Given the description of an element on the screen output the (x, y) to click on. 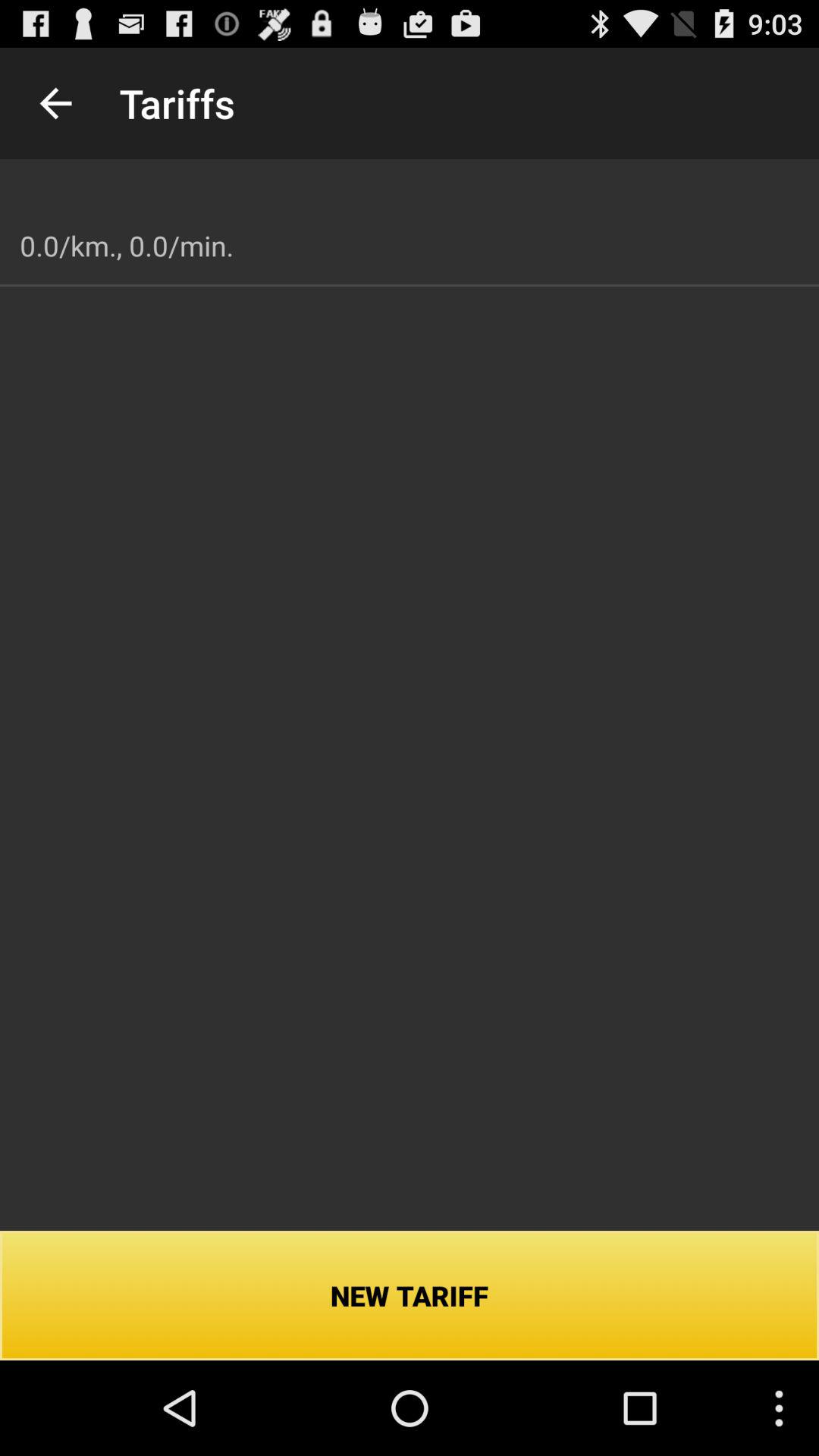
launch the item at the bottom (409, 1295)
